Given the description of an element on the screen output the (x, y) to click on. 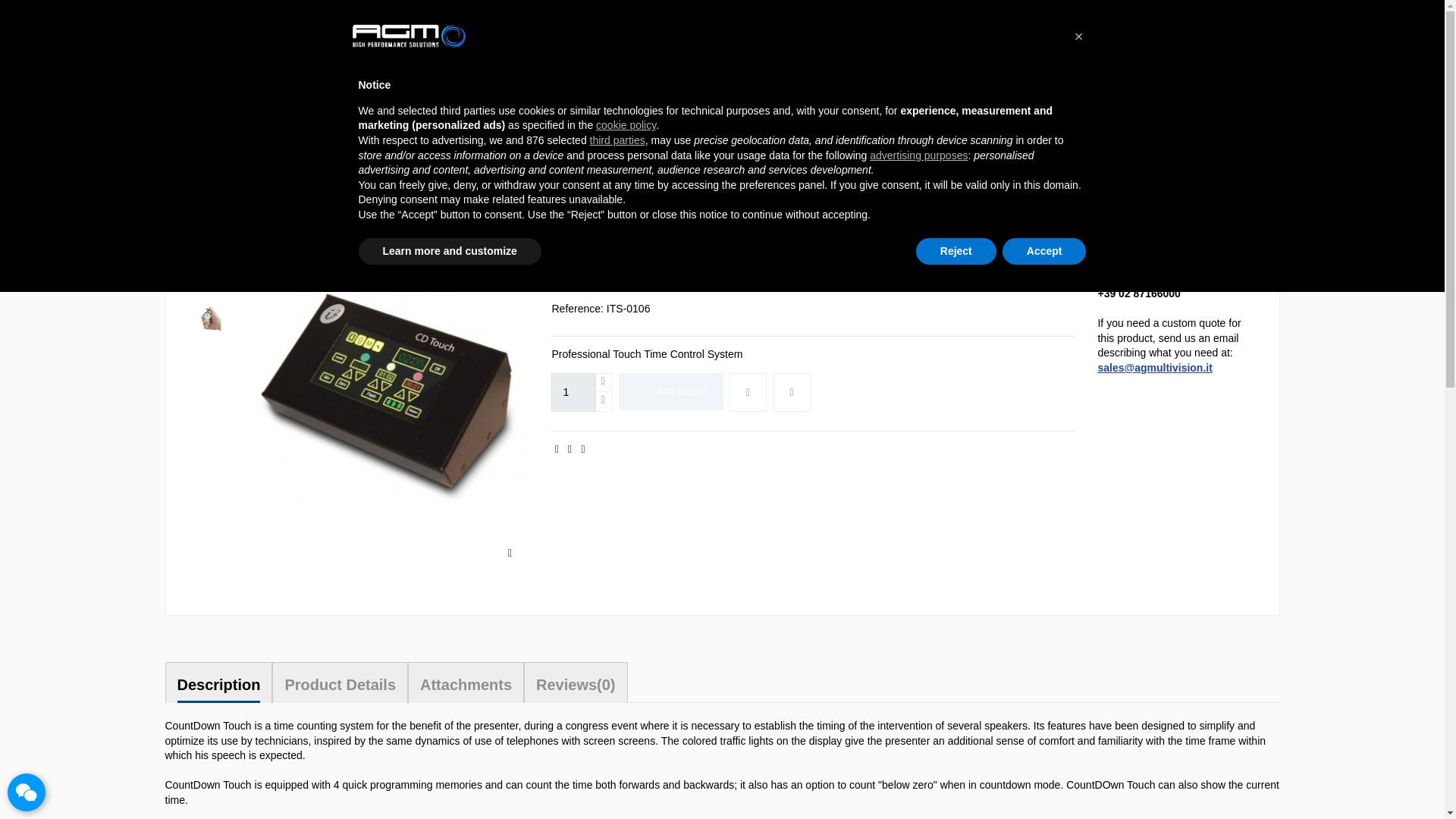
SUPPORT (388, 10)
Log in to your customer account (1202, 61)
NEW PRODUCTS (251, 10)
1 (573, 392)
ENGLISH (1093, 10)
BLOG (180, 10)
ProAV Solutions (445, 119)
BRANDS (327, 10)
Brands list (327, 10)
